Given the description of an element on the screen output the (x, y) to click on. 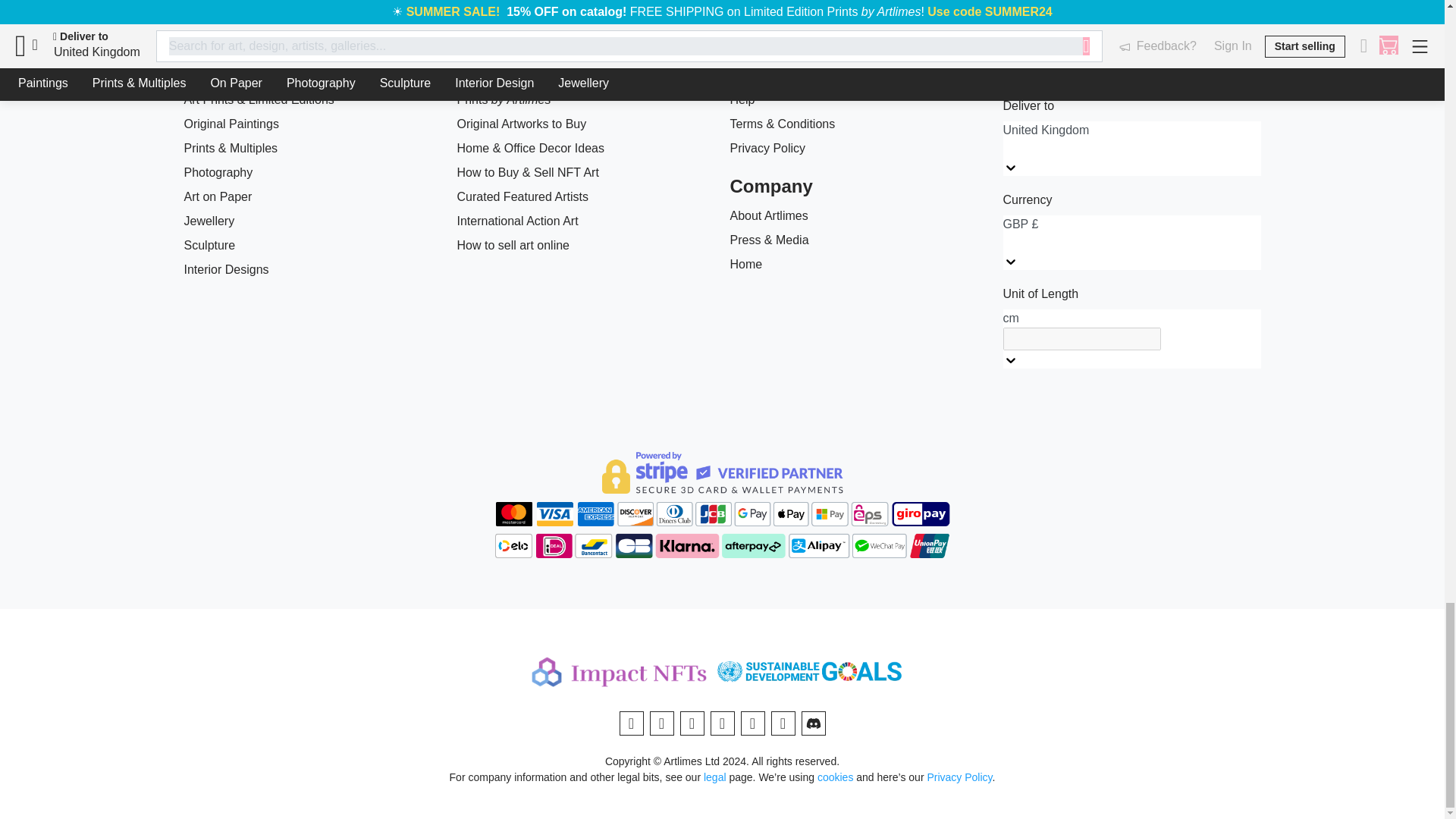
Limited Edition Prints Certified by Artlimes (585, 99)
